Given the description of an element on the screen output the (x, y) to click on. 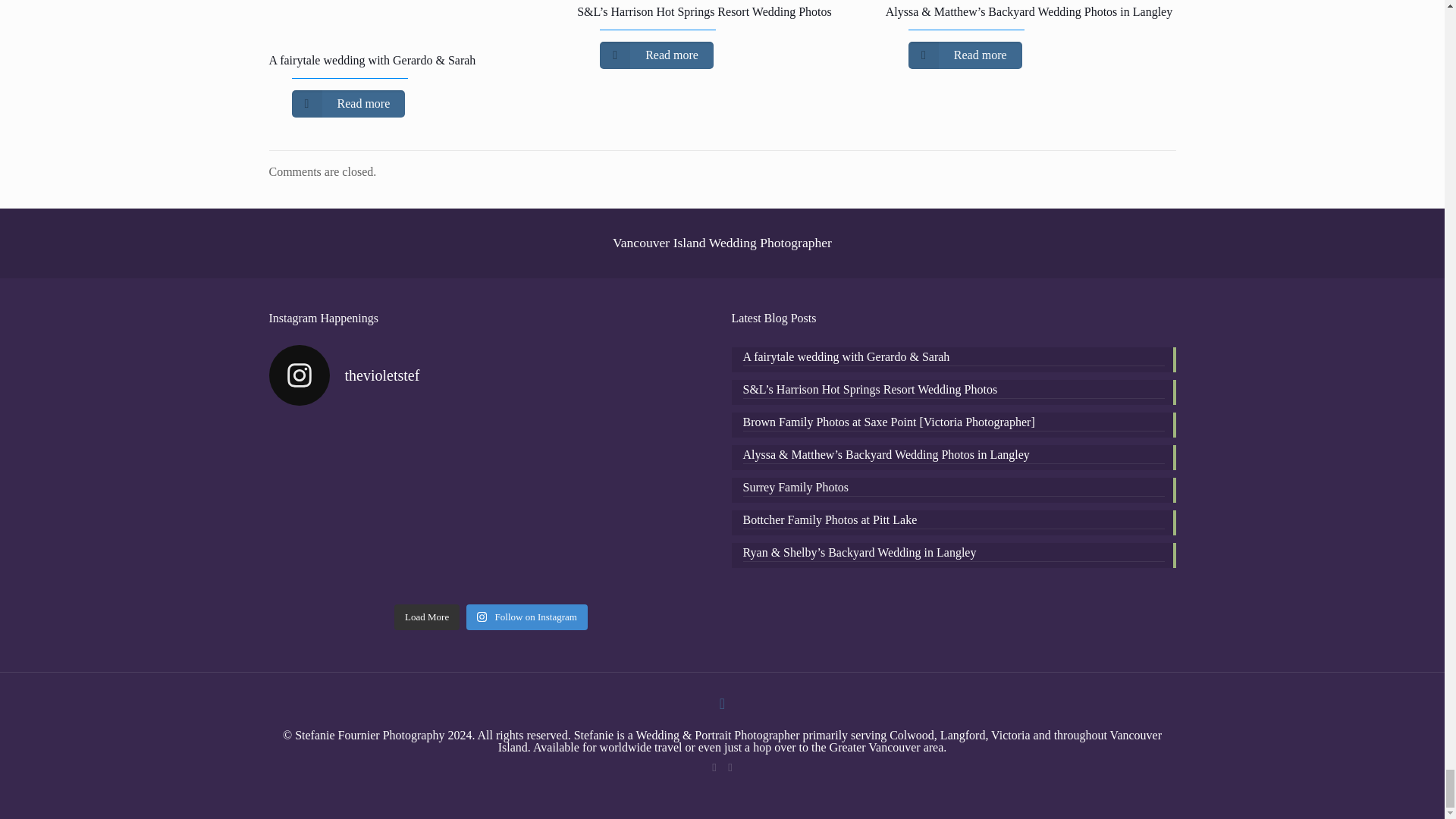
Facebook (713, 767)
Instagram (730, 767)
